Given the description of an element on the screen output the (x, y) to click on. 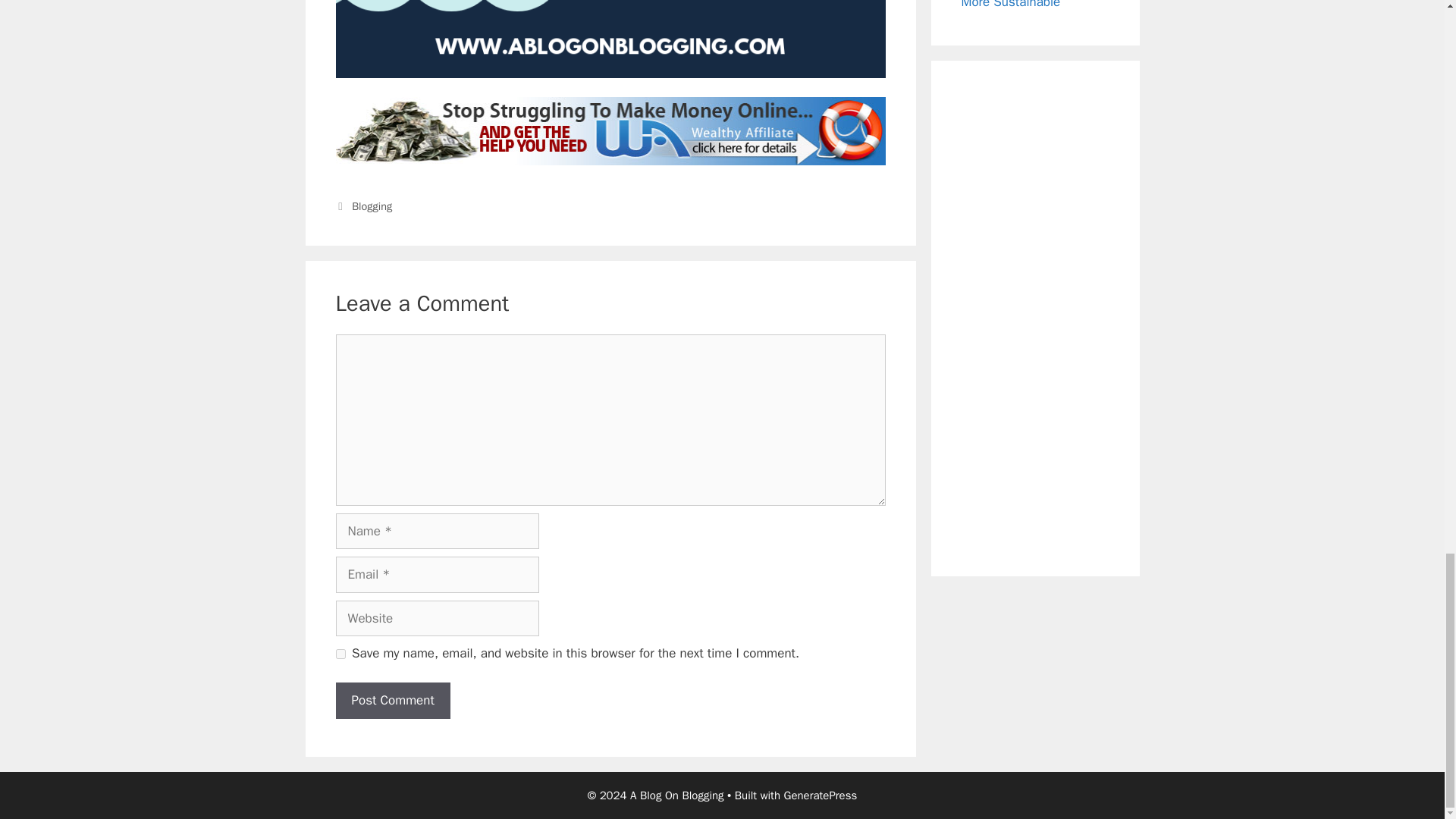
How to Make a Home More Sustainable (1021, 4)
Post Comment (391, 700)
Post Comment (391, 700)
yes (339, 654)
GeneratePress (820, 795)
Blogging (371, 205)
